Given the description of an element on the screen output the (x, y) to click on. 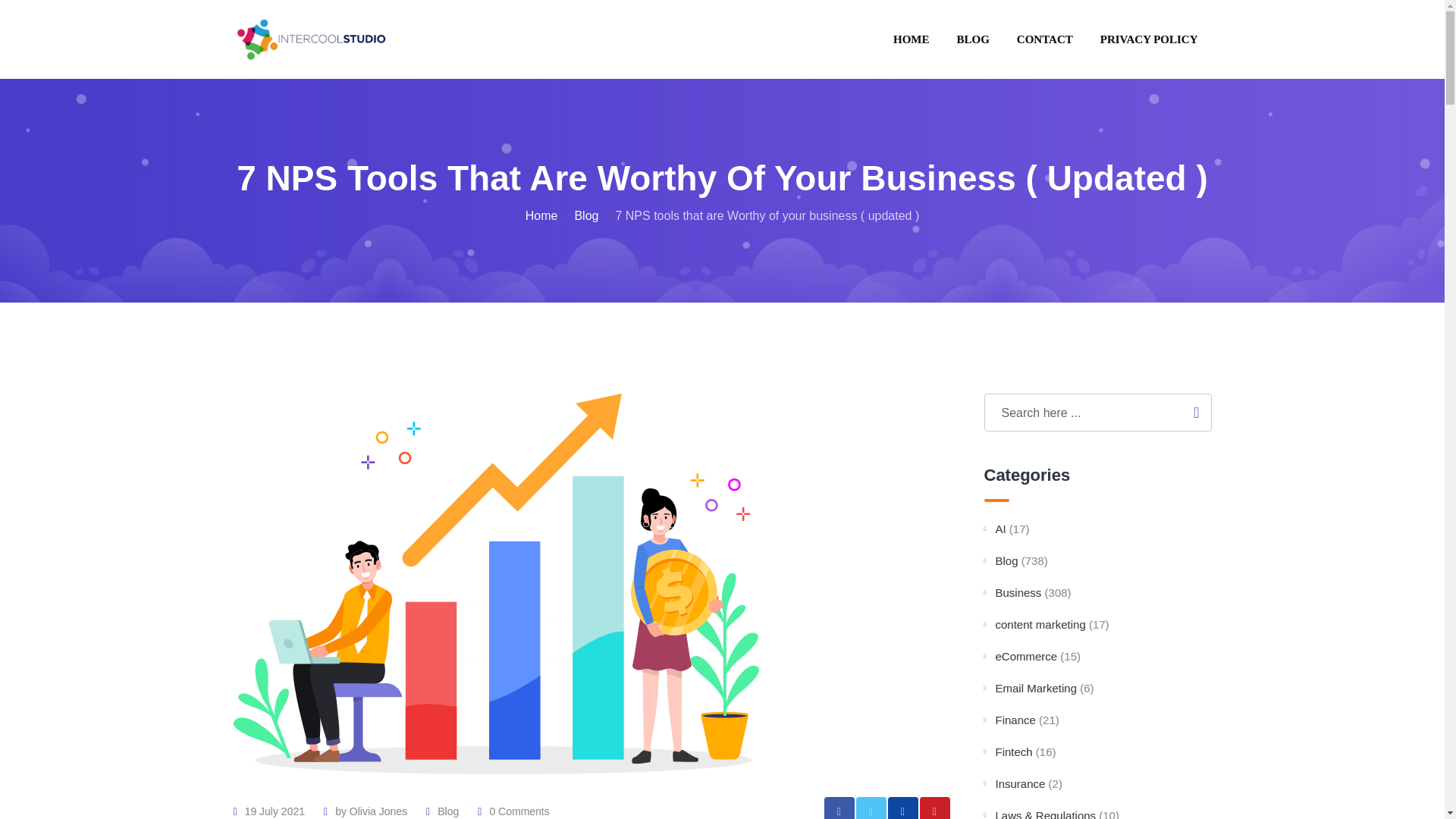
Olivia Jones (378, 811)
CONTACT (1044, 39)
0 Comments (518, 811)
Blog (448, 811)
PRIVACY POLICY (1148, 39)
Posts by Olivia Jones (378, 811)
Home (541, 215)
Blog (585, 215)
